Given the description of an element on the screen output the (x, y) to click on. 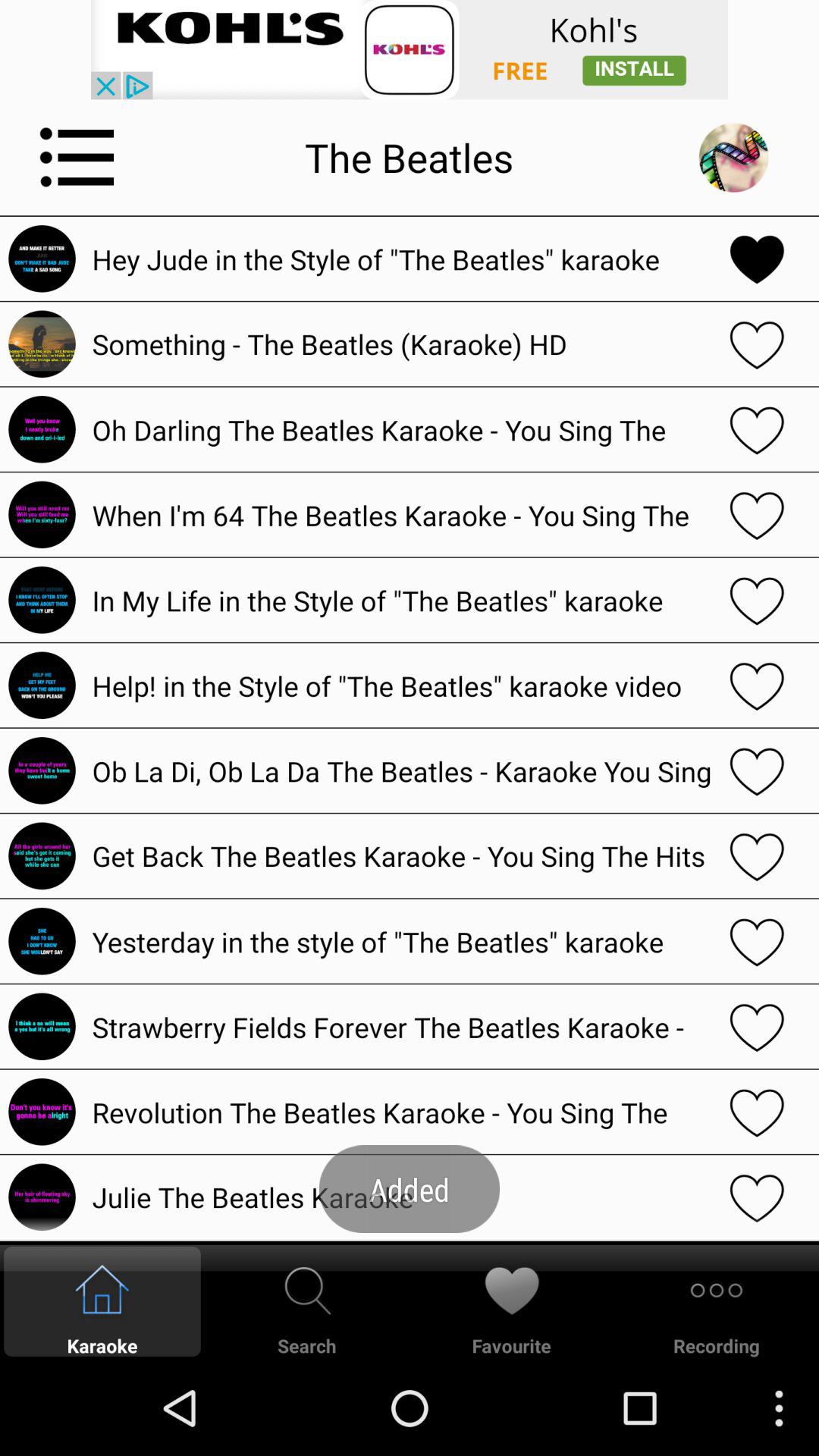
add to favourites (756, 514)
